Given the description of an element on the screen output the (x, y) to click on. 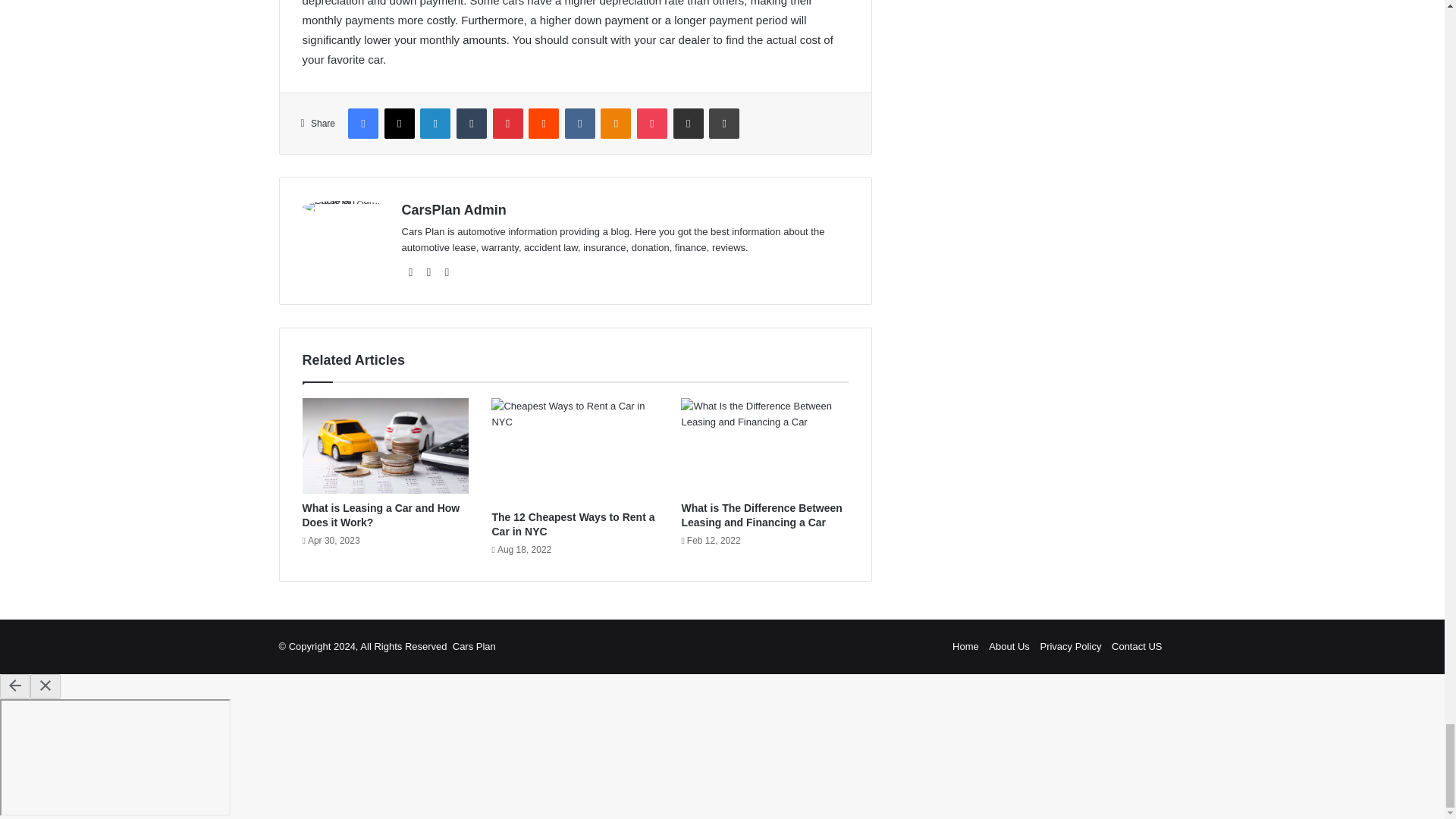
LinkedIn (434, 123)
Facebook (362, 123)
Facebook (362, 123)
Tumblr (471, 123)
Tumblr (471, 123)
Pinterest (507, 123)
X (399, 123)
X (399, 123)
LinkedIn (434, 123)
